Given the description of an element on the screen output the (x, y) to click on. 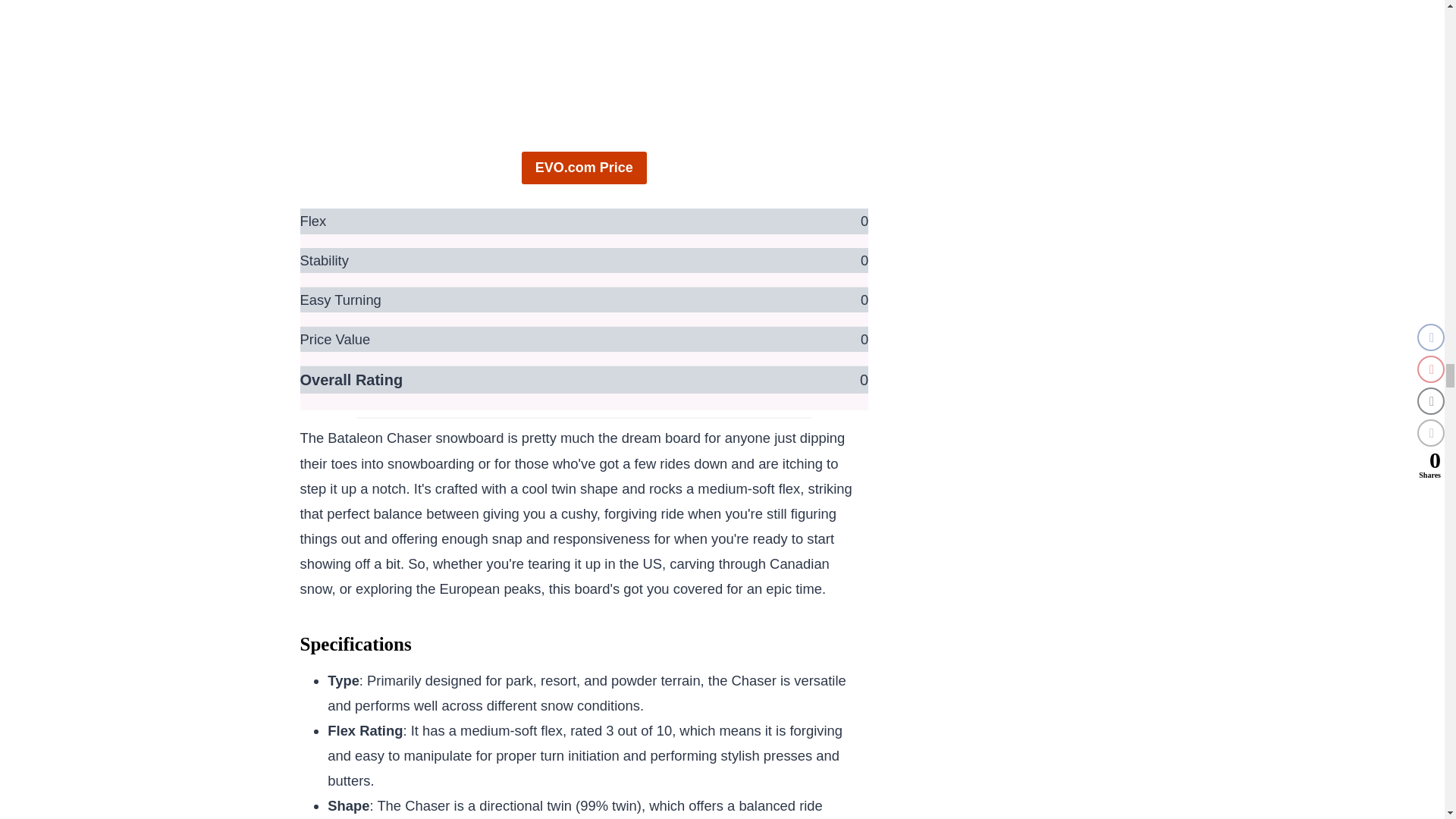
EVO.com Price (583, 167)
